Given the description of an element on the screen output the (x, y) to click on. 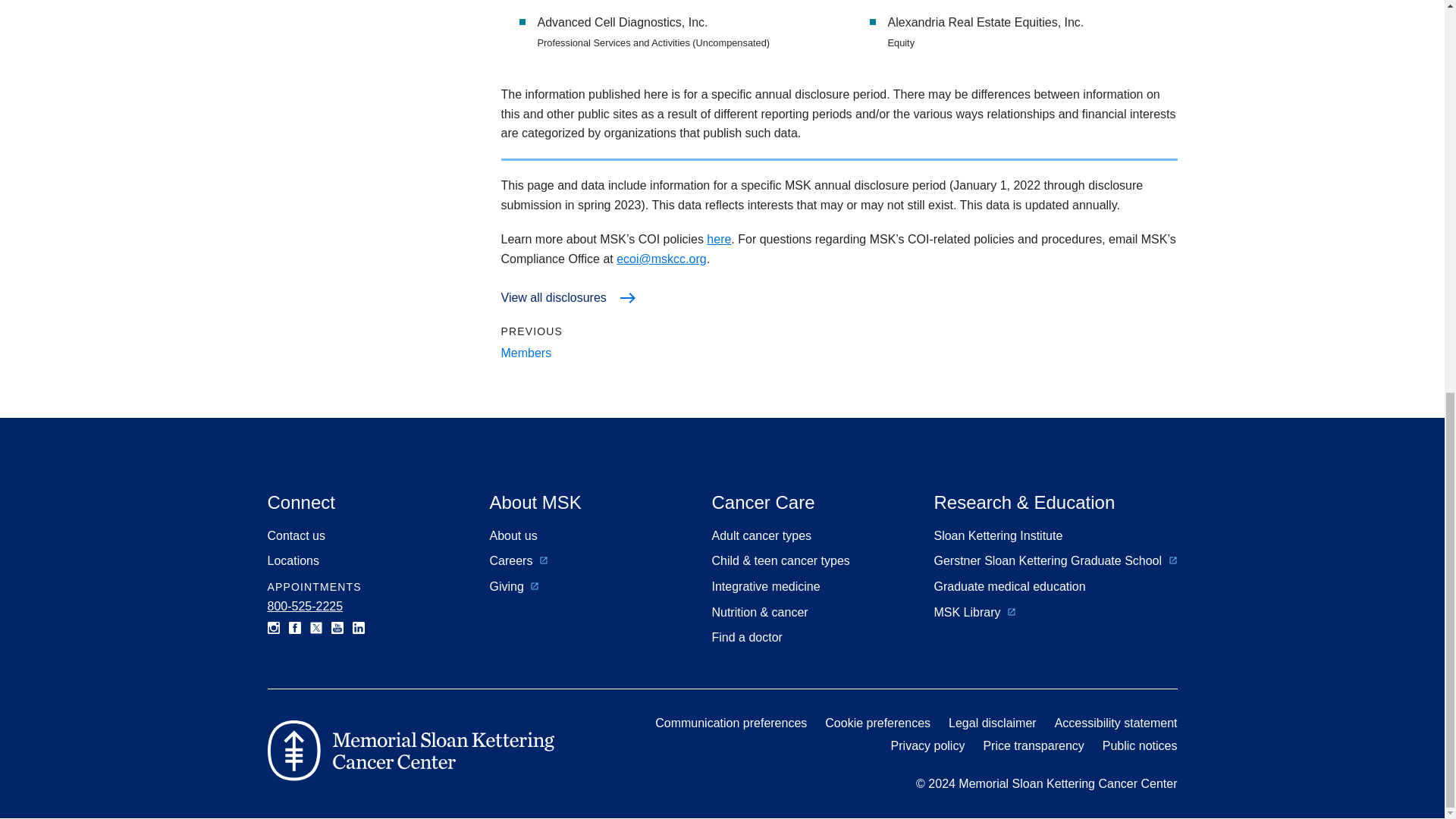
Memorial Sloan Kettering Cancer Center (409, 750)
